Given the description of an element on the screen output the (x, y) to click on. 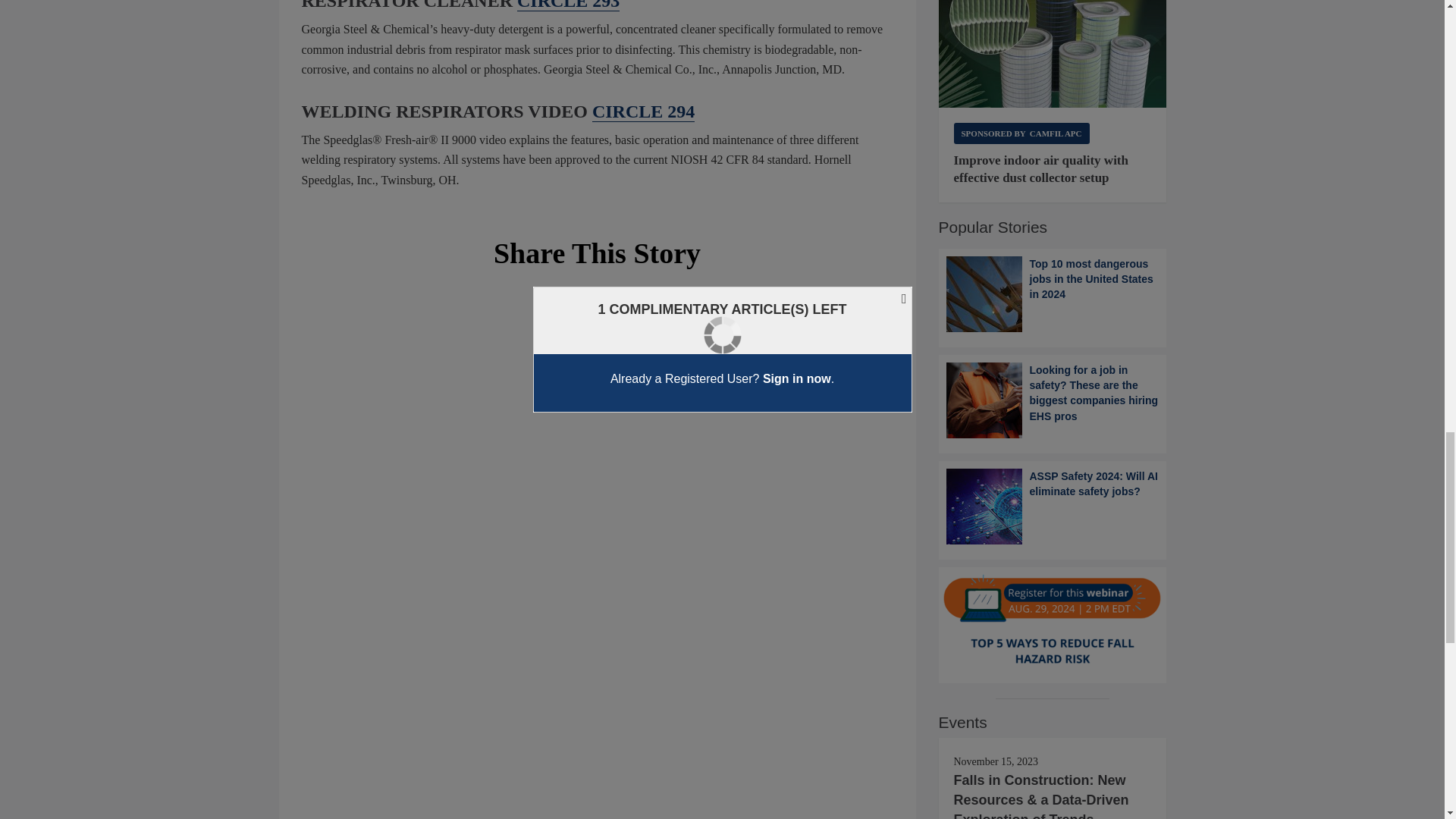
Top 10 most dangerous jobs in the United States in 2024 (1052, 294)
dust collector filters and media (1052, 54)
ASSP Safety 2024: Will AI eliminate safety jobs? (1052, 506)
Sponsored by Camfil APC (1021, 132)
